Given the description of an element on the screen output the (x, y) to click on. 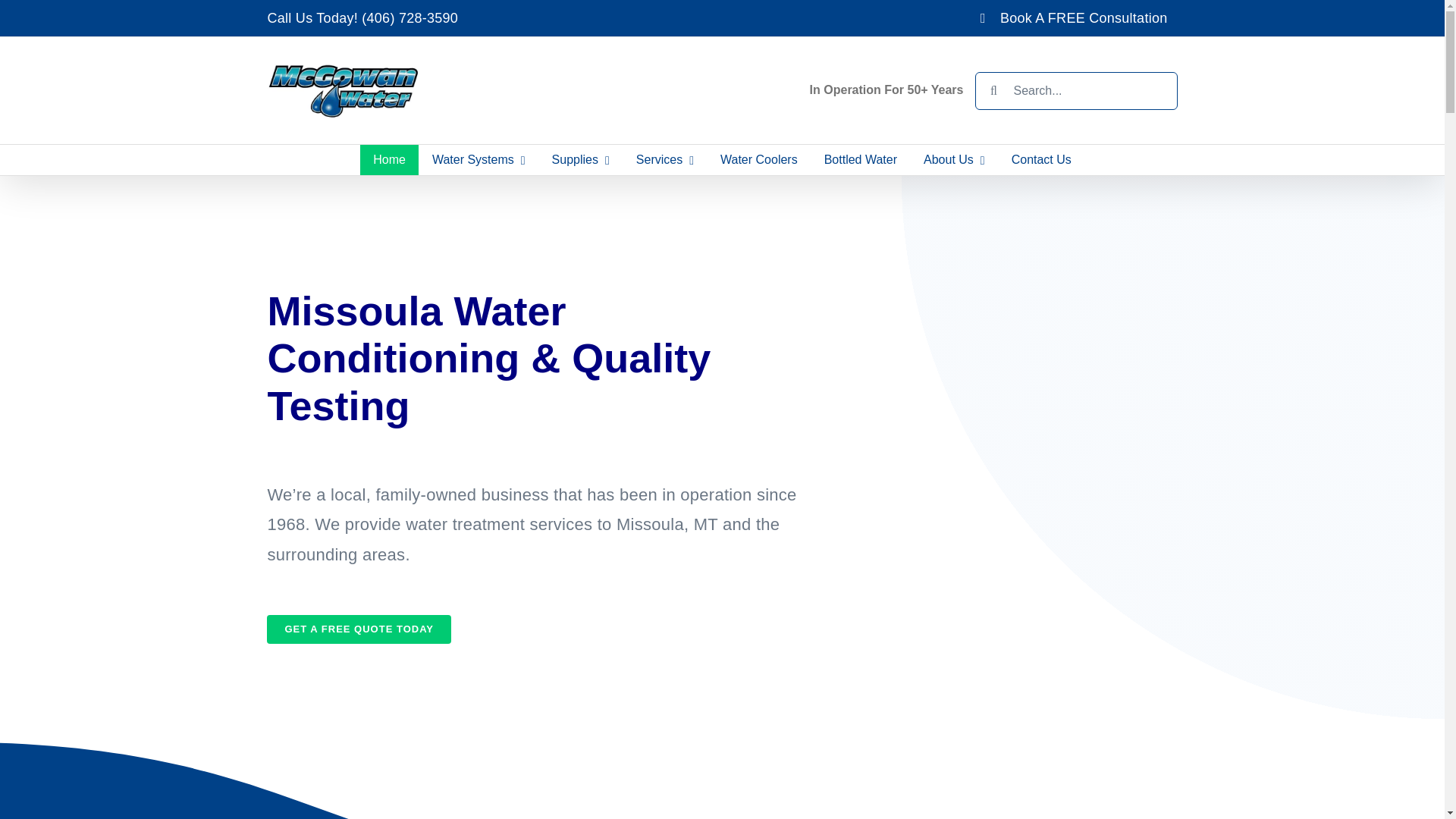
Supplies (580, 159)
Services (664, 159)
Water Systems (478, 159)
Book A FREE Consultation (1074, 18)
Water Coolers (758, 159)
Contact Us (1040, 159)
About Us (954, 159)
Home (389, 159)
Bottled Water (860, 159)
